Given the description of an element on the screen output the (x, y) to click on. 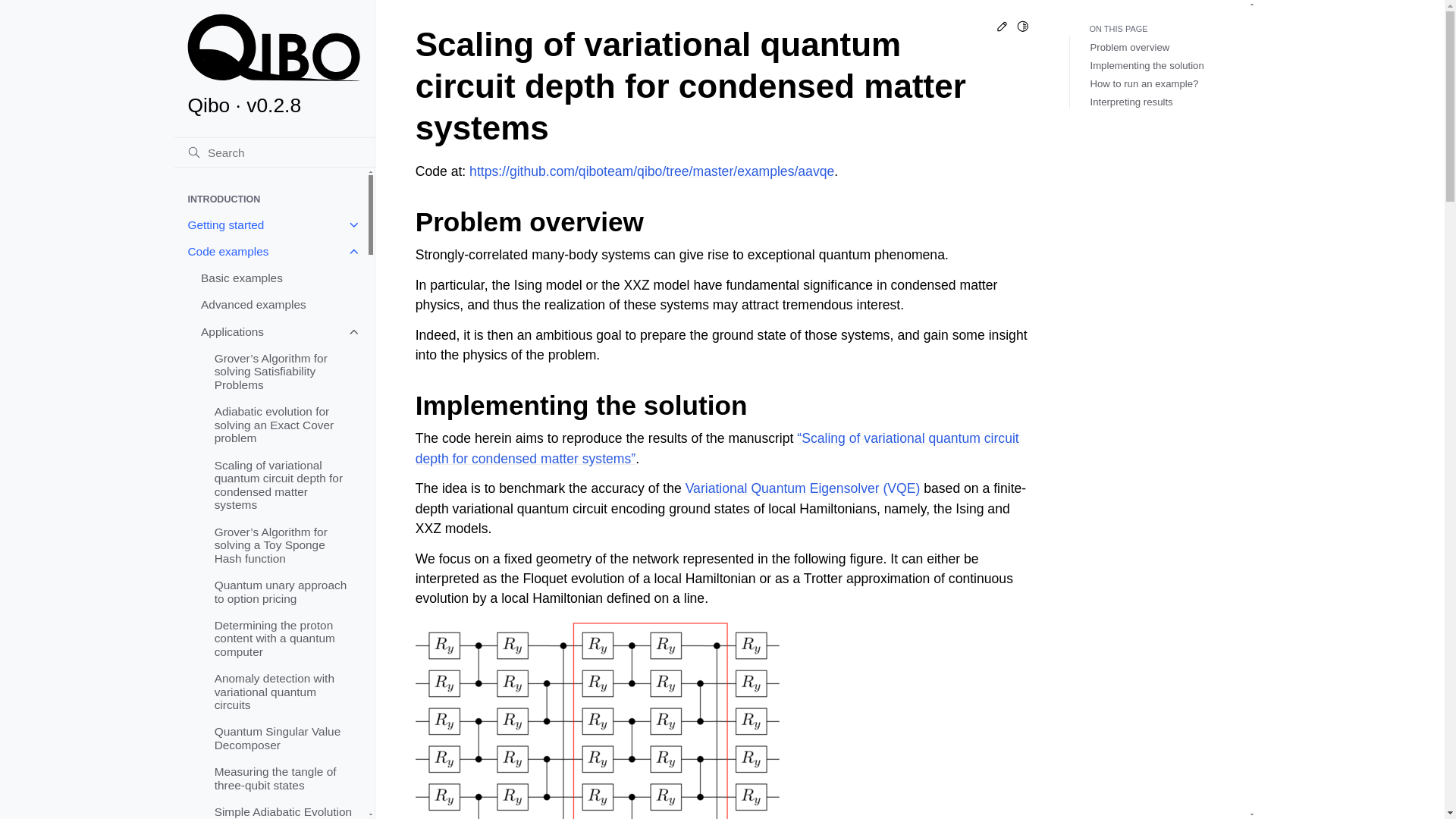
Quantum unary approach to option pricing (283, 591)
Getting started (270, 224)
Anomaly detection with variational quantum circuits (283, 691)
Basic examples (276, 277)
Applications (276, 331)
Edit this page (1002, 28)
Measuring the tangle of three-qubit states (283, 778)
Simple Adiabatic Evolution Examples (283, 808)
Adiabatic evolution for solving an Exact Cover problem (283, 424)
Advanced examples (276, 304)
Code examples (270, 251)
Determining the proton content with a quantum computer (283, 638)
Quantum Singular Value Decomposer (283, 739)
